Given the description of an element on the screen output the (x, y) to click on. 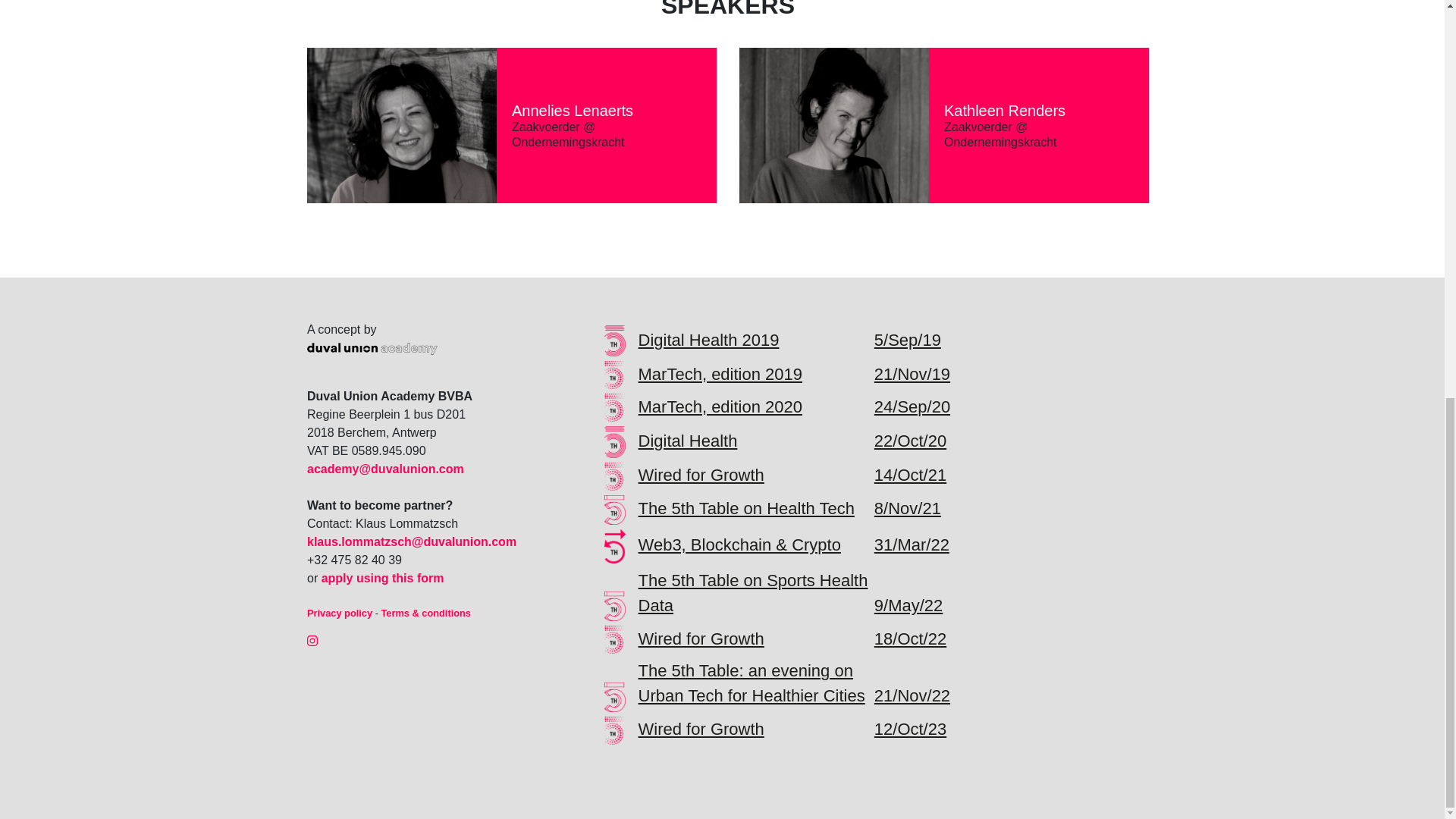
apply using this form (382, 577)
Privacy policy (339, 613)
